Given the description of an element on the screen output the (x, y) to click on. 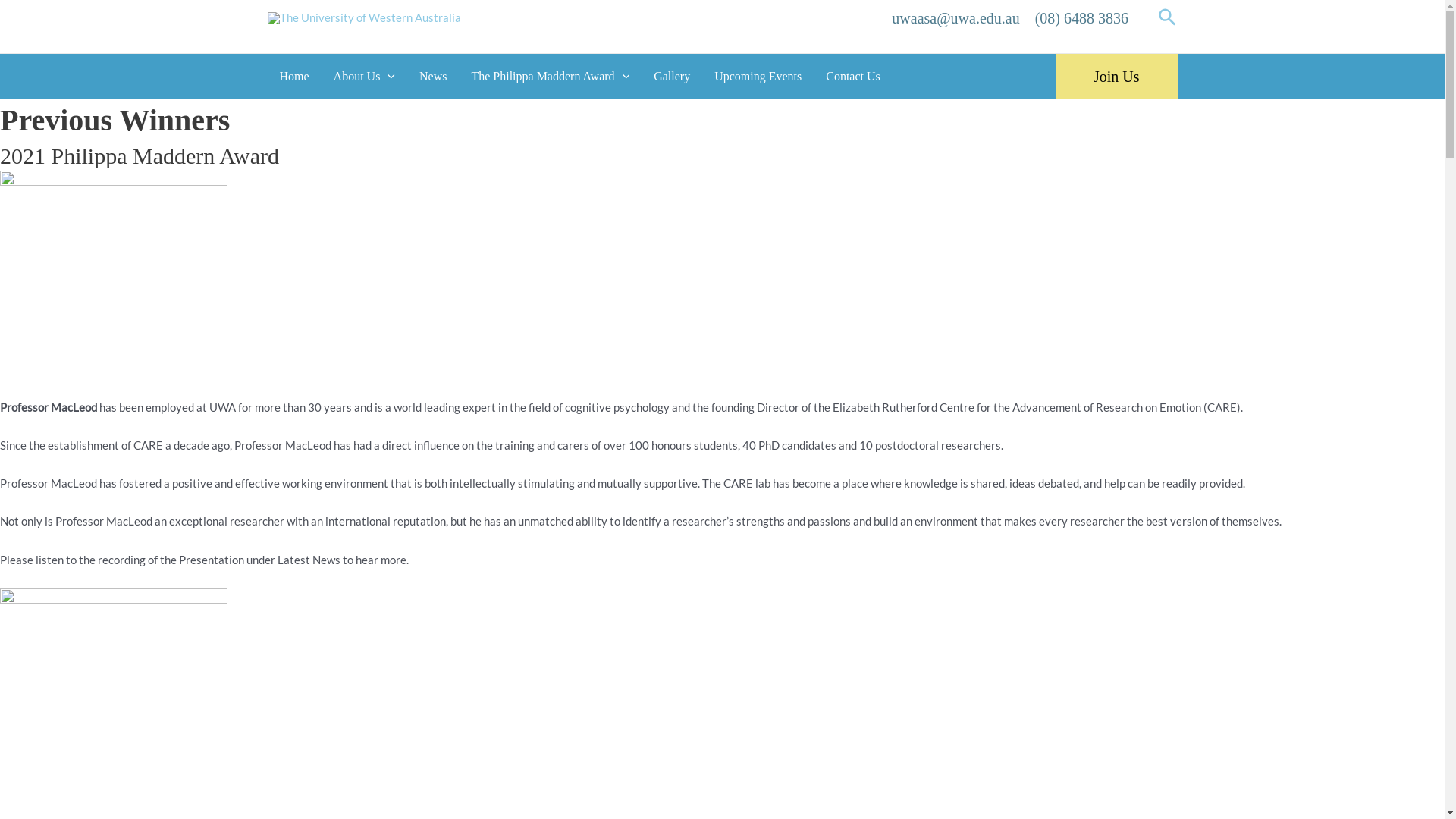
Home Element type: text (293, 76)
Contact Us Element type: text (852, 76)
Gallery Element type: text (671, 76)
The Philippa Maddern Award Element type: text (549, 76)
(08) 6488 3836 Element type: text (1081, 17)
uwaasa@uwa.edu.au Element type: text (955, 17)
About Us Element type: text (364, 76)
Join Us Element type: text (1116, 76)
News Element type: text (432, 76)
Upcoming Events Element type: text (757, 76)
Search Element type: text (1167, 17)
